Given the description of an element on the screen output the (x, y) to click on. 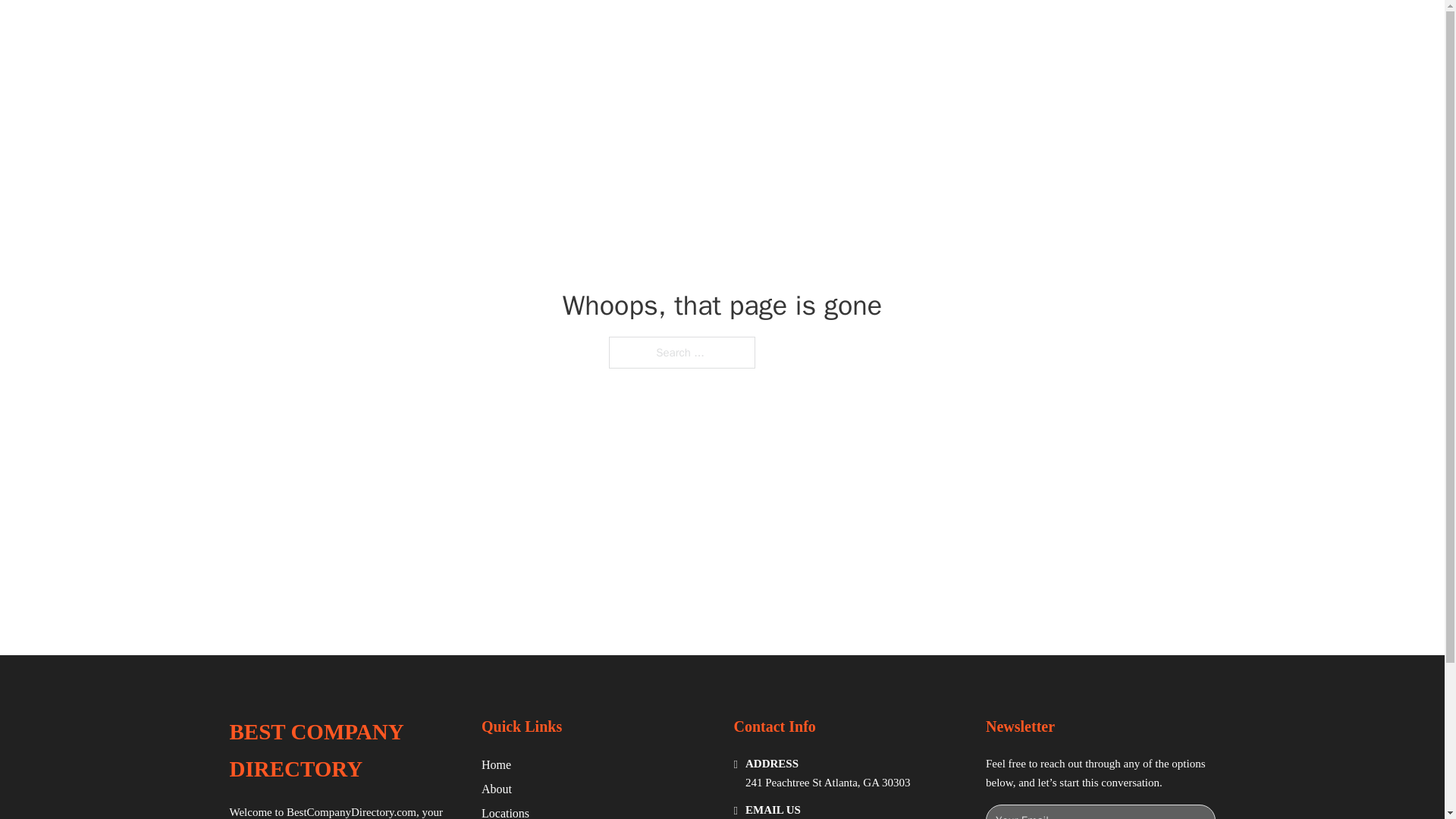
BEST COMPANY DIRECTORY (446, 28)
Locations (505, 811)
Home (496, 764)
BestCompanyDirectory.com (351, 811)
LOCATIONS (990, 29)
About (496, 788)
BEST COMPANY DIRECTORY (343, 750)
HOME (919, 29)
